Given the description of an element on the screen output the (x, y) to click on. 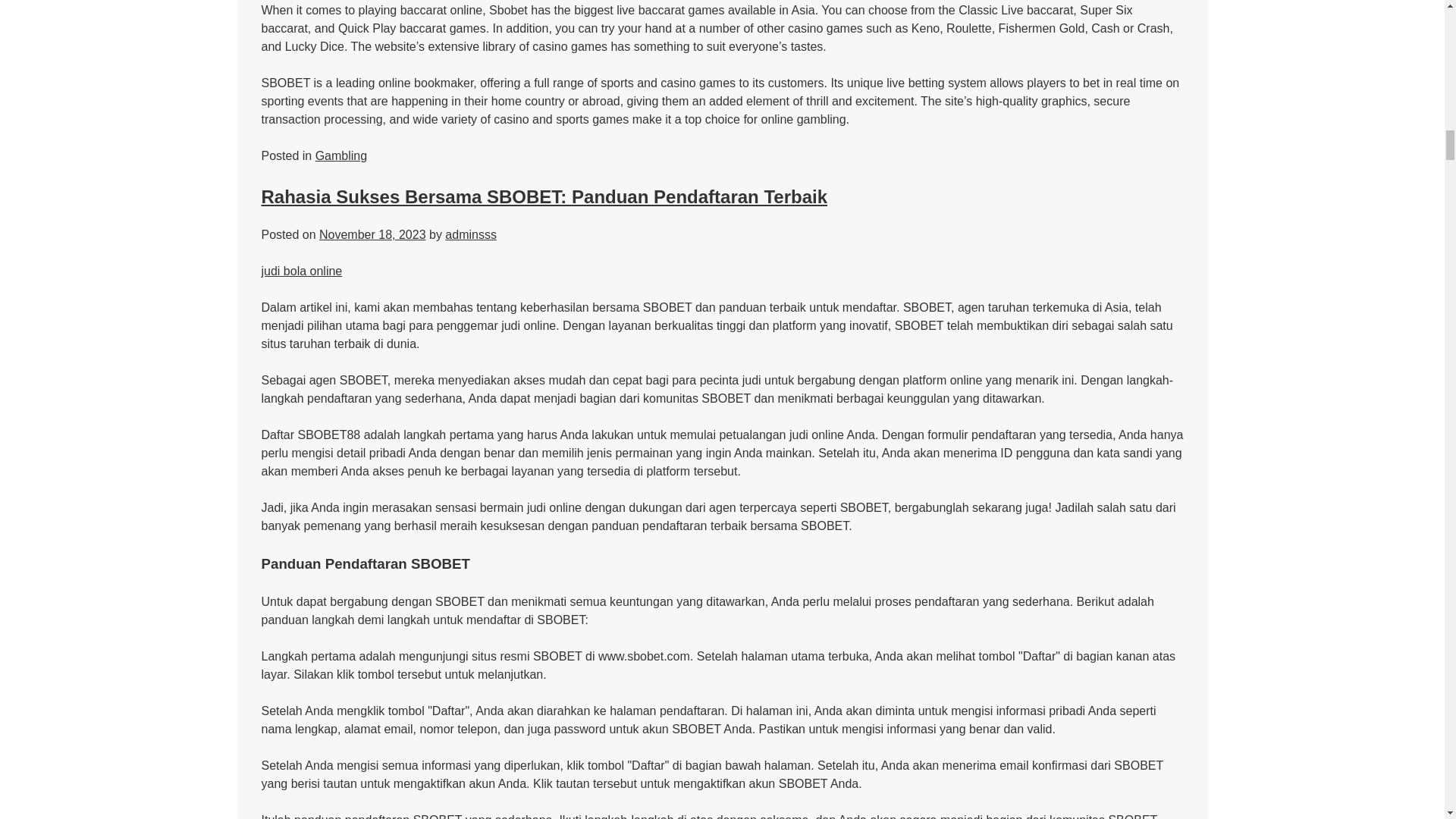
judi bola online (301, 270)
Gambling (340, 155)
adminsss (470, 234)
November 18, 2023 (372, 234)
Rahasia Sukses Bersama SBOBET: Panduan Pendaftaran Terbaik (543, 196)
